Given the description of an element on the screen output the (x, y) to click on. 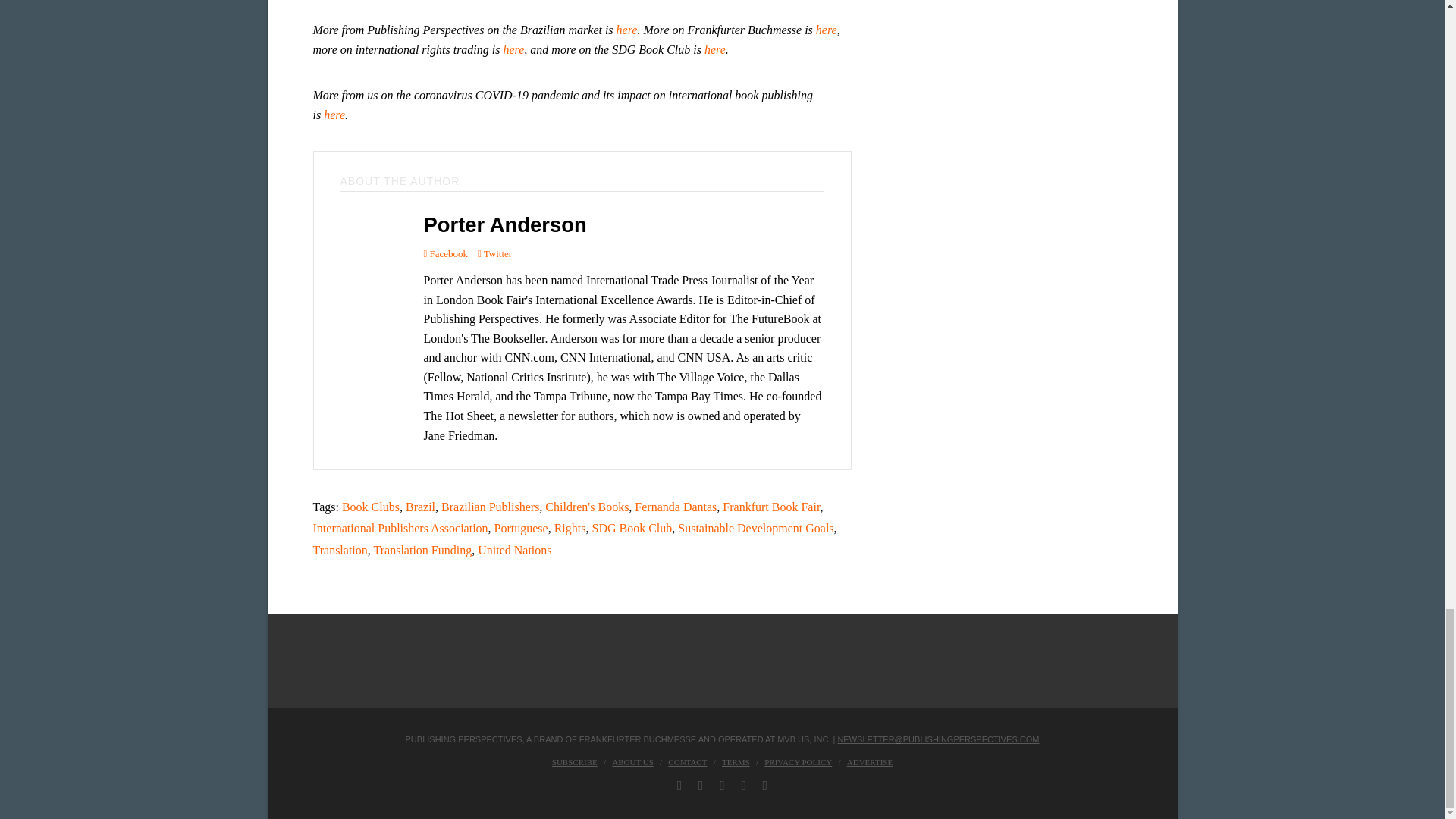
Visit the Facebook Profile for Porter Anderson (445, 253)
Terms and Conditions (735, 761)
Subscribe to Publishing Perspectives (573, 761)
Visit the Twitter Profile for Porter Anderson (494, 253)
